Given the description of an element on the screen output the (x, y) to click on. 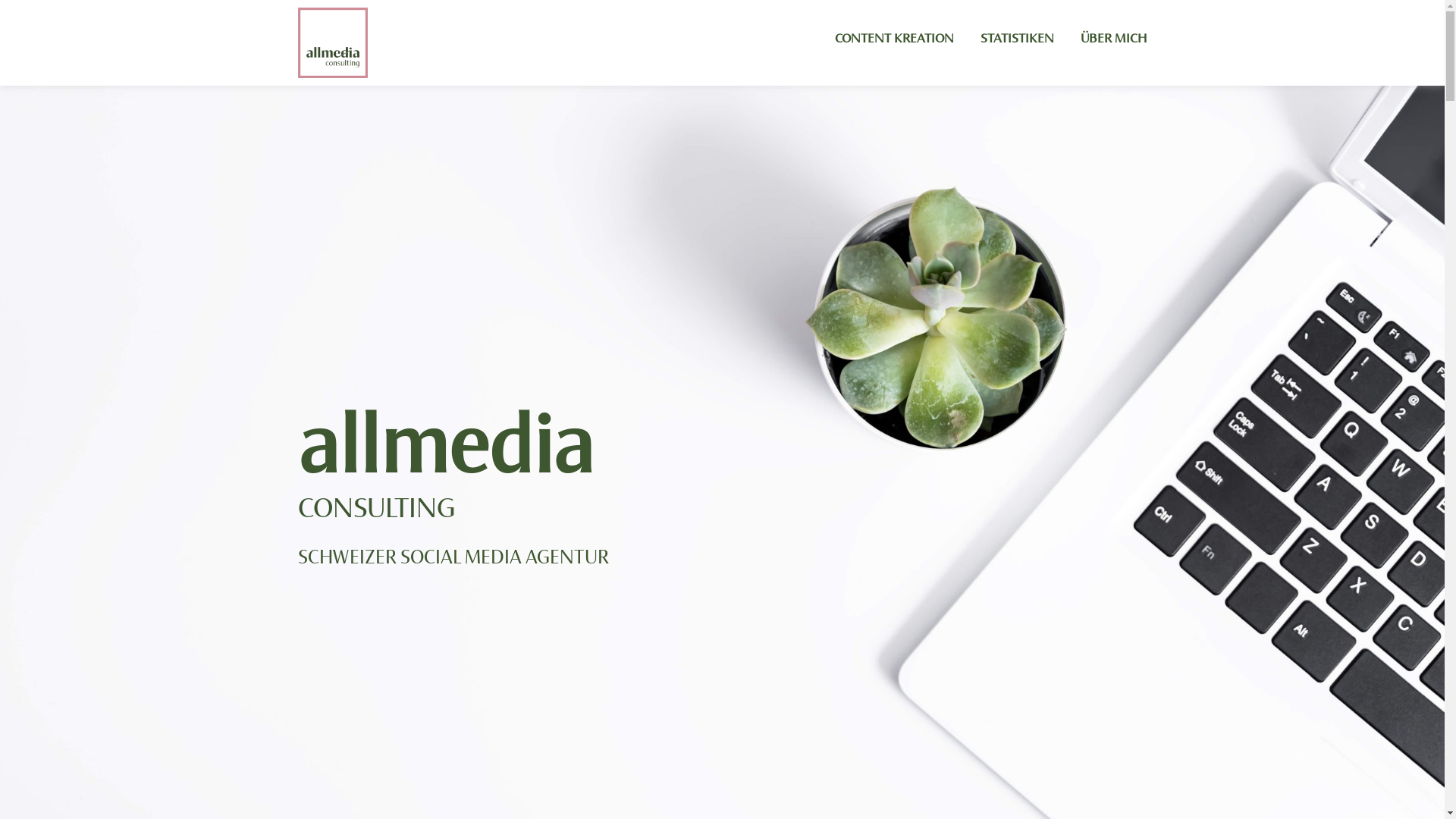
CONTENT KREATION Element type: text (893, 38)
STATISTIKEN Element type: text (1017, 38)
